Given the description of an element on the screen output the (x, y) to click on. 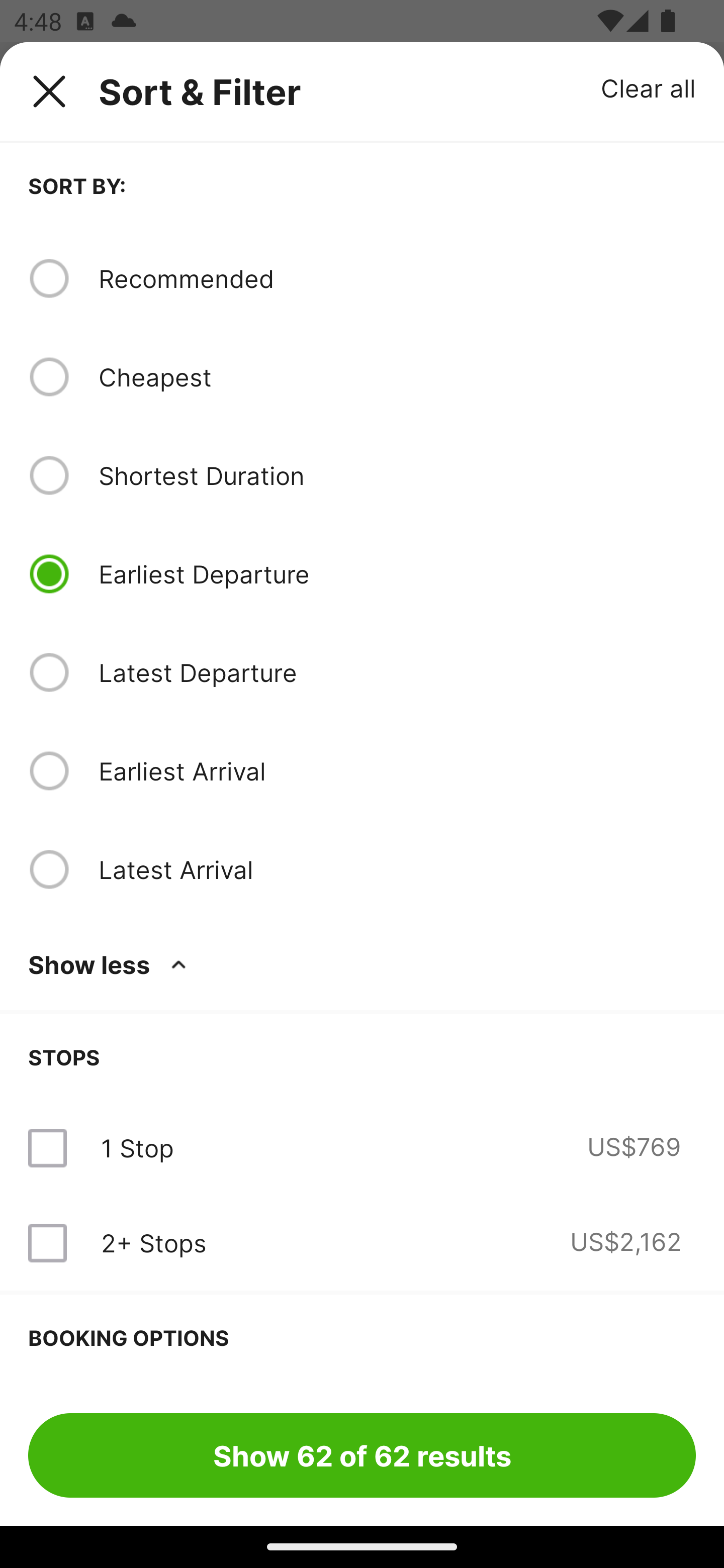
Clear all (648, 87)
Recommended  (396, 278)
Cheapest (396, 377)
Shortest Duration (396, 474)
Earliest Departure (396, 573)
Latest Departure (396, 672)
Earliest Arrival (396, 770)
Latest Arrival (396, 869)
Show less (110, 964)
1 Stop US$769 (362, 1147)
1 Stop (136, 1147)
2+ Stops US$2,162 (362, 1242)
2+ Stops (153, 1242)
Show 62 of 62 results (361, 1454)
